Given the description of an element on the screen output the (x, y) to click on. 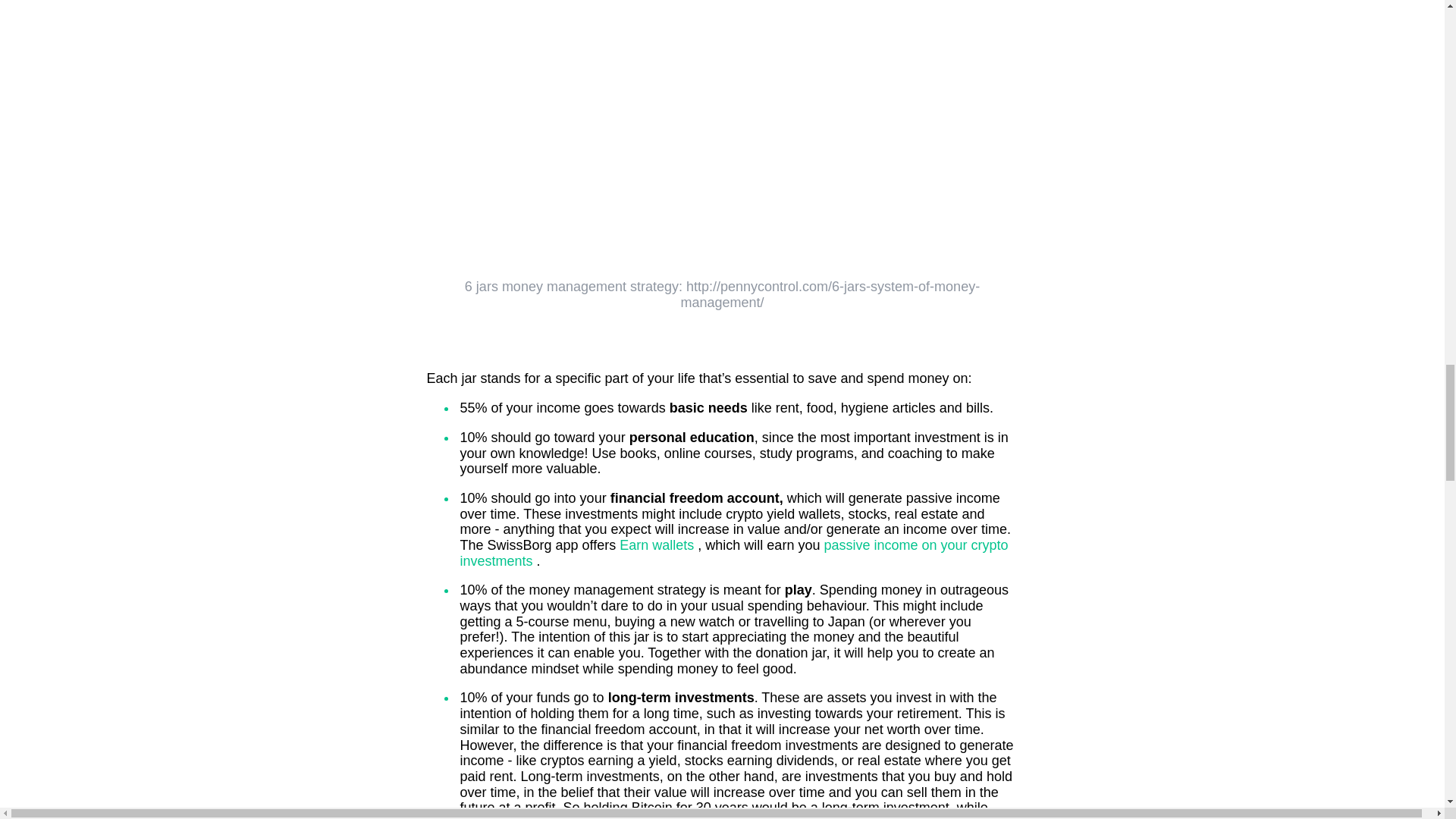
Earn wallets (658, 544)
passive income on your crypto investments (733, 552)
